Given the description of an element on the screen output the (x, y) to click on. 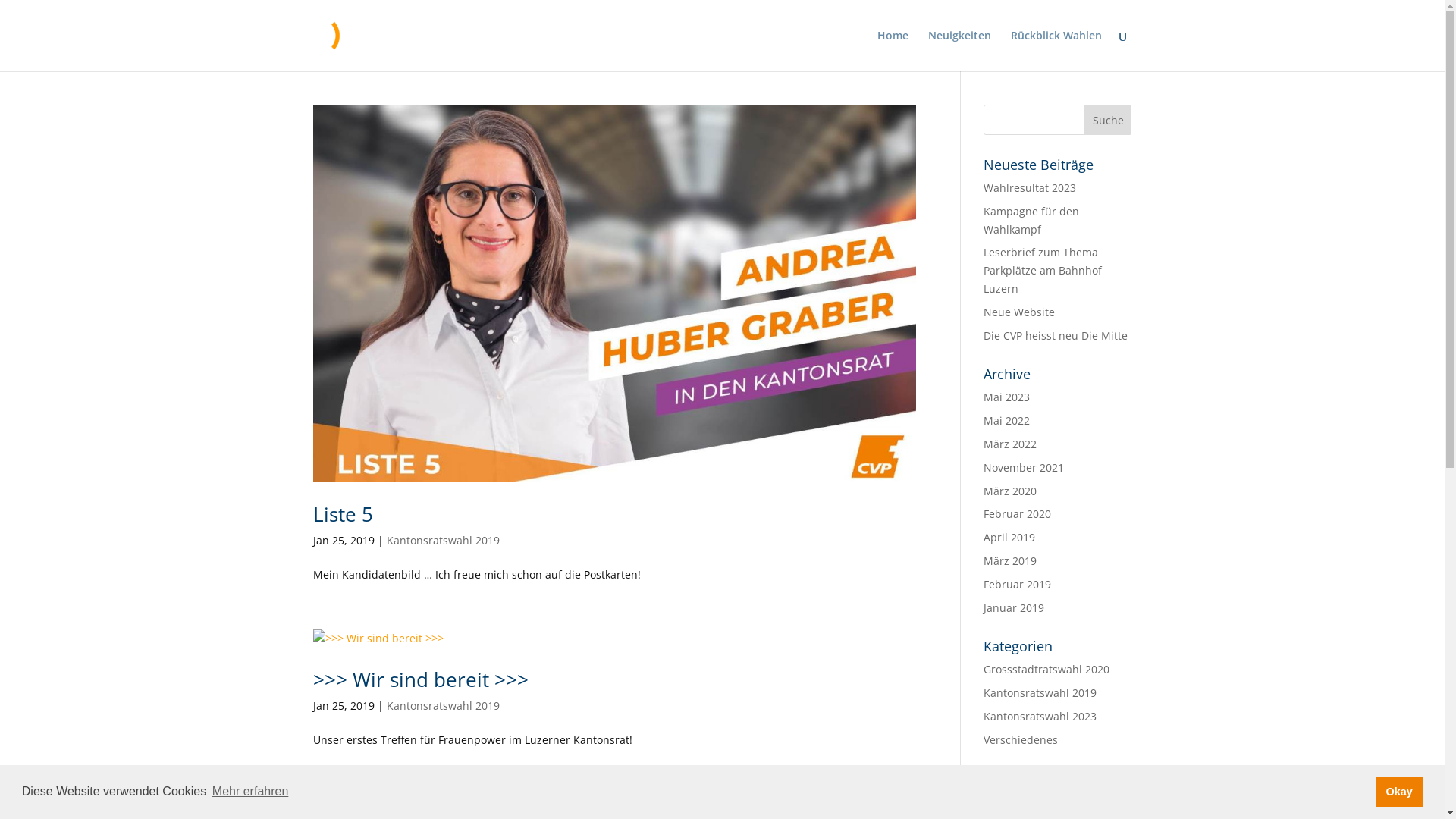
April 2019 Element type: text (1009, 537)
Februar 2020 Element type: text (1017, 513)
Mai 2022 Element type: text (1006, 420)
Neuigkeiten Element type: text (959, 50)
Mai 2023 Element type: text (1006, 396)
Kantonsratswahl 2019 Element type: text (1039, 692)
Mehr erfahren Element type: text (250, 791)
November 2021 Element type: text (1023, 467)
Januar 2019 Element type: text (1013, 607)
Die CVP heisst neu Die Mitte Element type: text (1055, 335)
Kantonsratswahl 2019 Element type: text (442, 540)
Wahlresultat 2023 Element type: text (1029, 187)
Februar 2019 Element type: text (1017, 584)
Kantonsratswahl 2023 Element type: text (1039, 716)
>>> Wir sind bereit >>> Element type: text (419, 679)
Liste 5 Element type: text (342, 513)
Home Element type: text (891, 50)
Suche Element type: text (1108, 119)
Okay Element type: text (1398, 791)
Verschiedenes Element type: text (1020, 739)
Grossstadtratswahl 2020 Element type: text (1046, 669)
Neue Website Element type: text (1018, 311)
Kantonsratswahl 2019 Element type: text (442, 705)
